Given the description of an element on the screen output the (x, y) to click on. 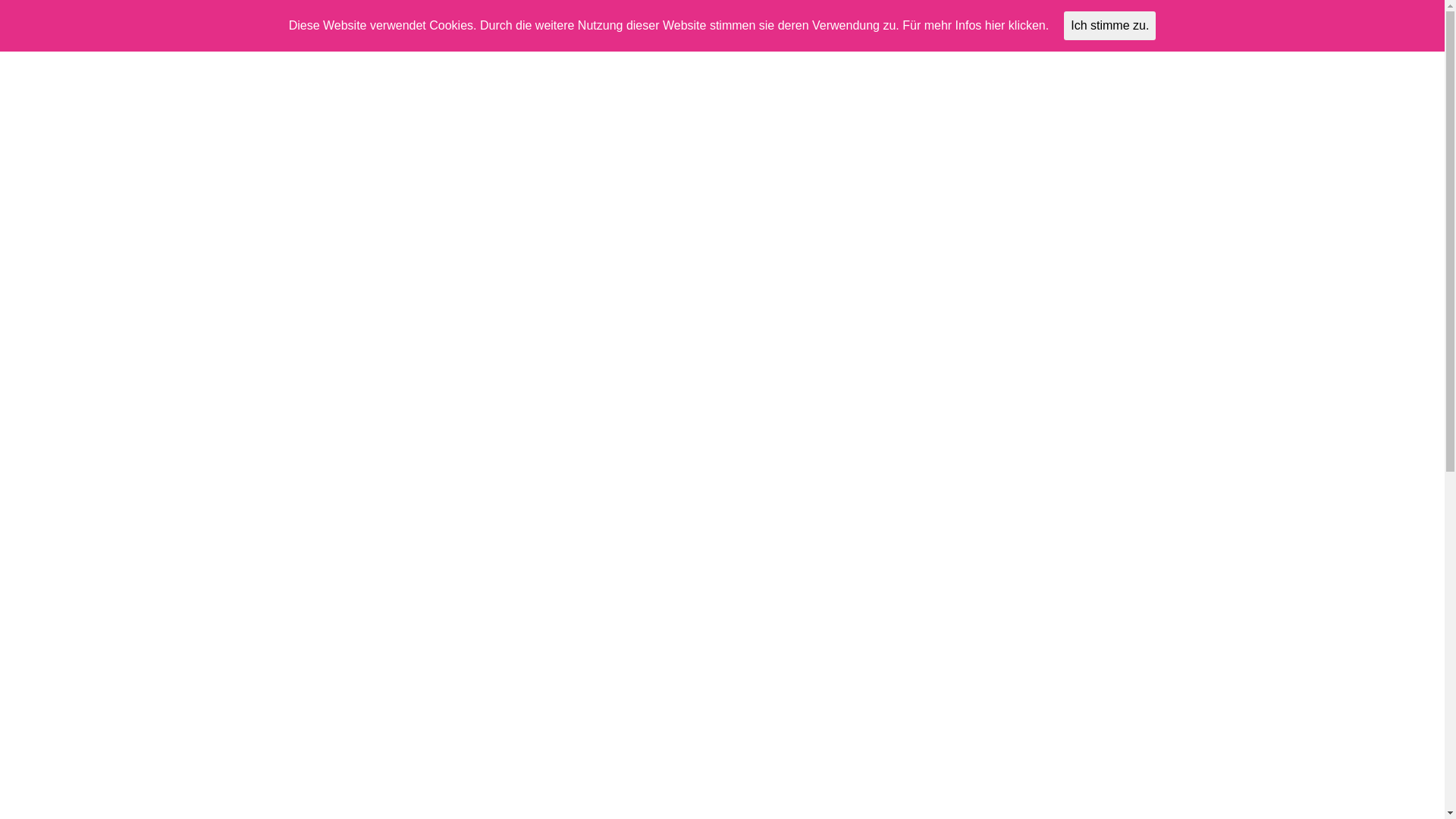
Ich stimme zu. Element type: text (1109, 25)
